Given the description of an element on the screen output the (x, y) to click on. 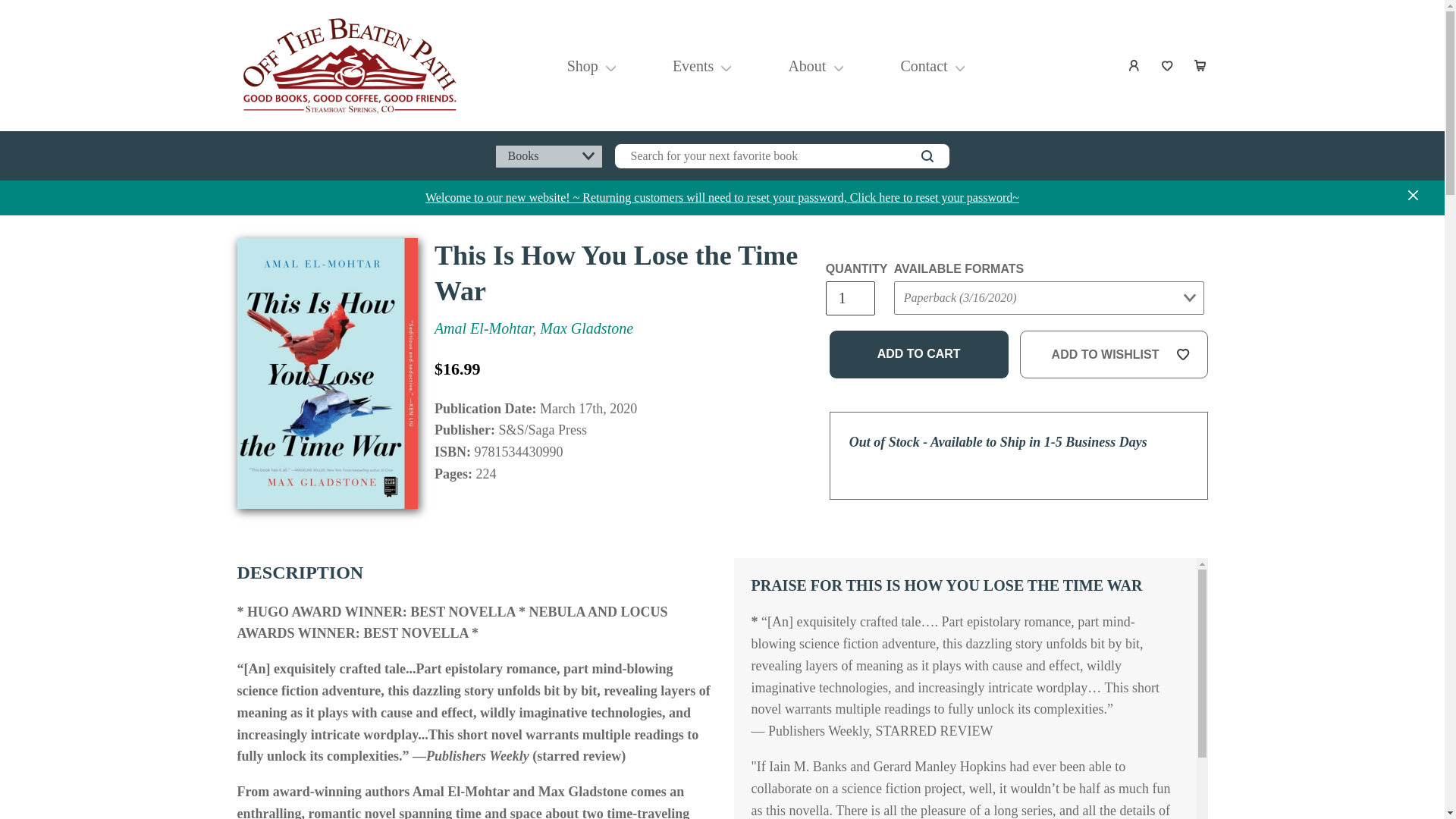
Cart (1201, 65)
Log in (1134, 65)
Contact (922, 65)
1 (850, 298)
Add to cart (919, 354)
Max Gladstone (586, 328)
Submit (922, 328)
ADD TO WISHLIST (1114, 354)
Events (692, 65)
